Given the description of an element on the screen output the (x, y) to click on. 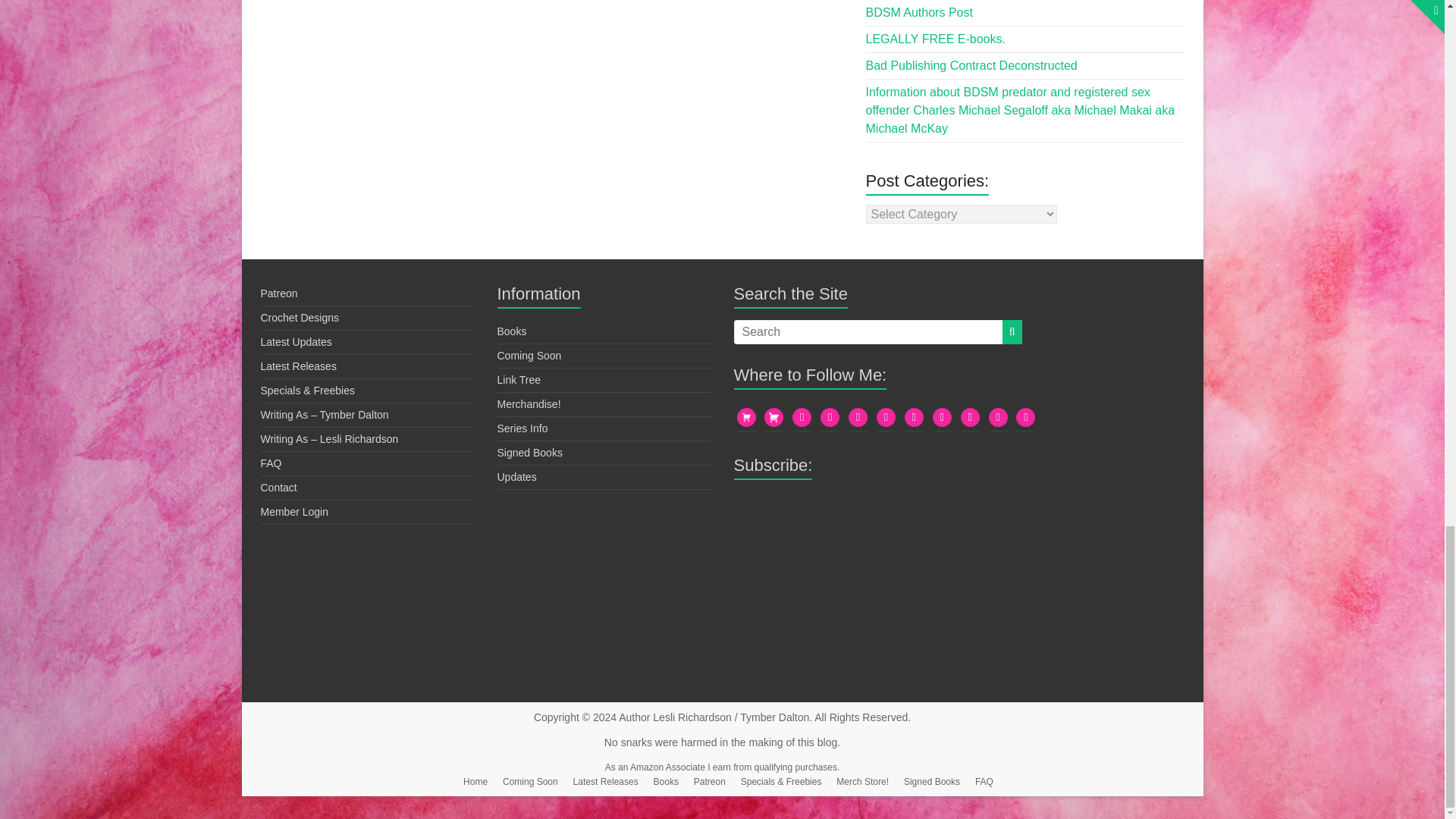
Default Label (997, 416)
Facebook (969, 416)
Instagram (942, 416)
Default Label (830, 416)
Default Label (1025, 416)
Default Label (801, 416)
Twitter (857, 416)
Default Label (885, 416)
Default Label (913, 416)
